Given the description of an element on the screen output the (x, y) to click on. 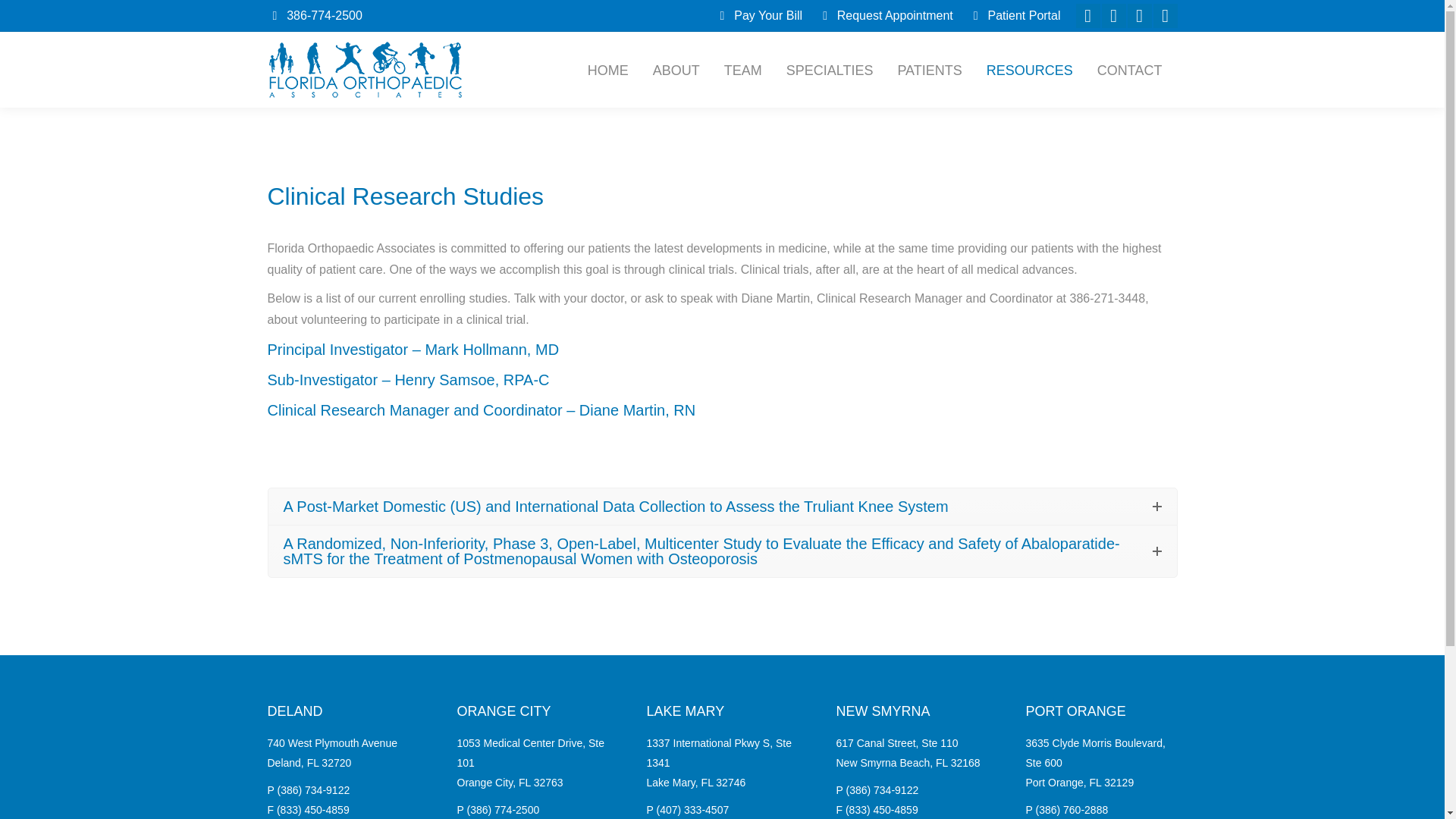
Instagram page opens in new window (1165, 15)
Facebook page opens in new window (1138, 15)
TEAM (742, 69)
YouTube page opens in new window (1087, 15)
X page opens in new window (1113, 15)
X page opens in new window (1113, 15)
YouTube page opens in new window (1087, 15)
Facebook page opens in new window (1138, 15)
ABOUT (676, 69)
Pay Your Bill (758, 15)
HOME (607, 69)
Instagram page opens in new window (1165, 15)
Patient Portal (1014, 15)
Request Appointment (884, 15)
